Given the description of an element on the screen output the (x, y) to click on. 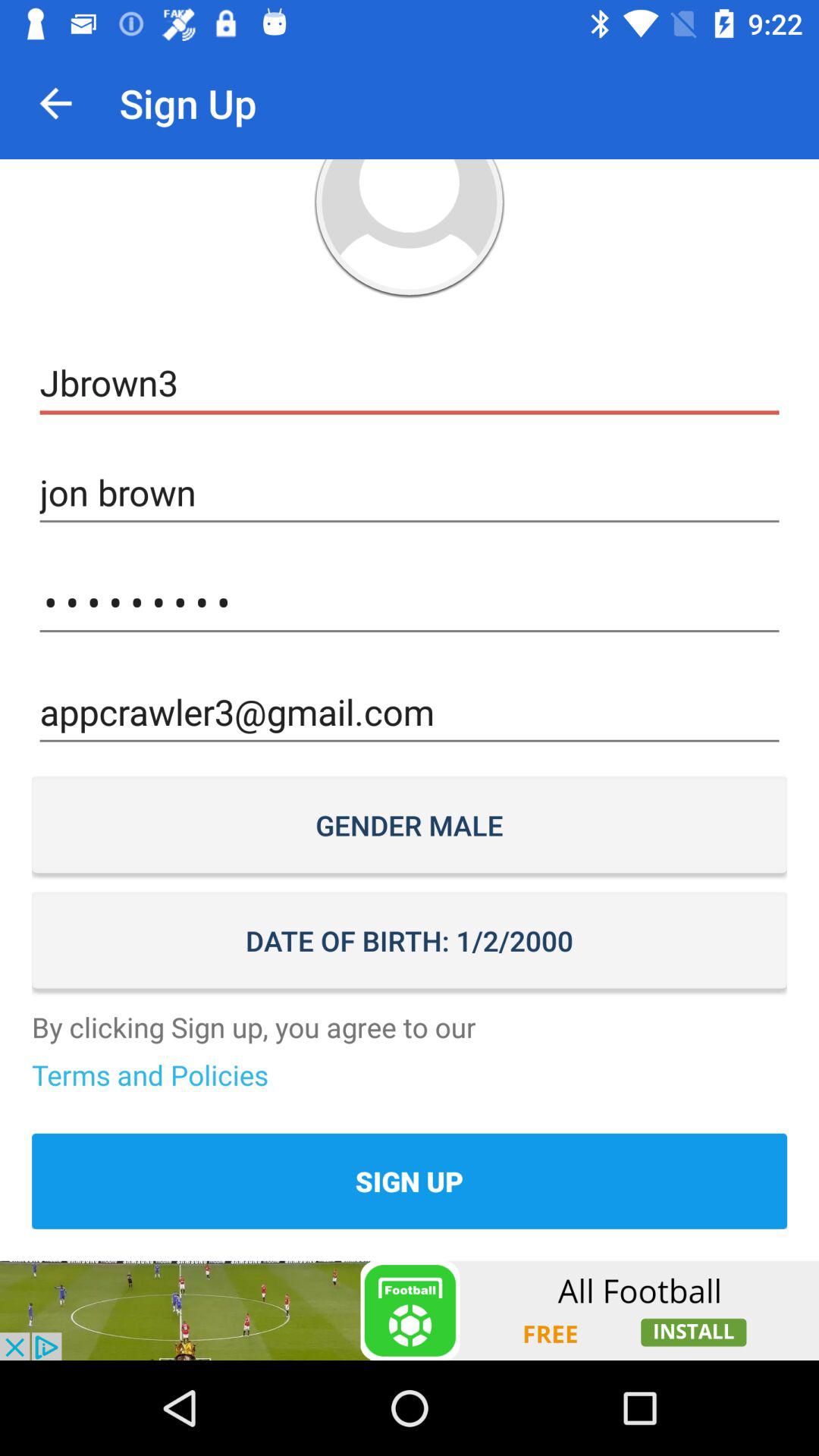
all football advertisement (409, 1310)
